Given the description of an element on the screen output the (x, y) to click on. 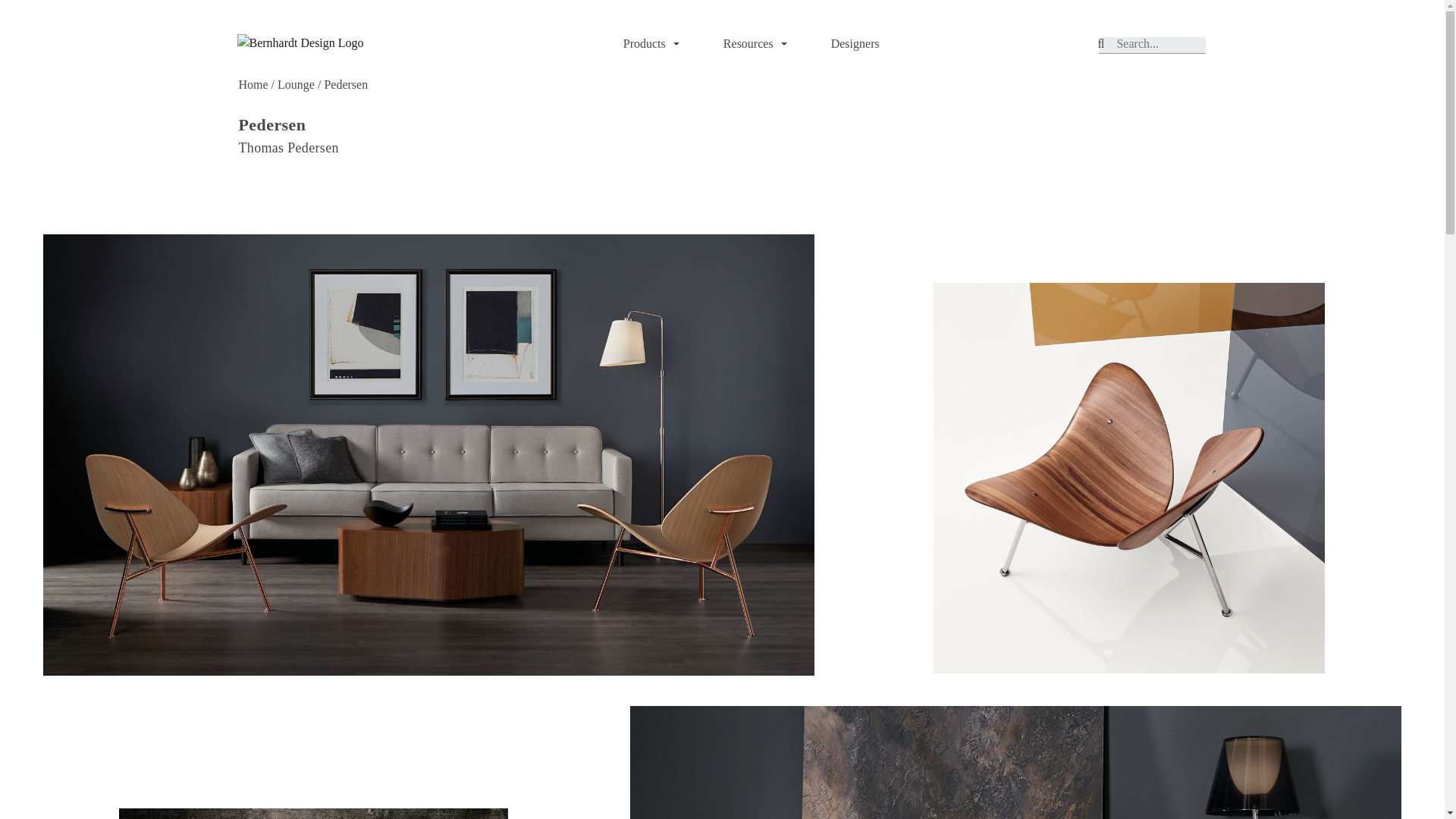
Products (649, 43)
Resources (753, 43)
Products (649, 43)
